Given the description of an element on the screen output the (x, y) to click on. 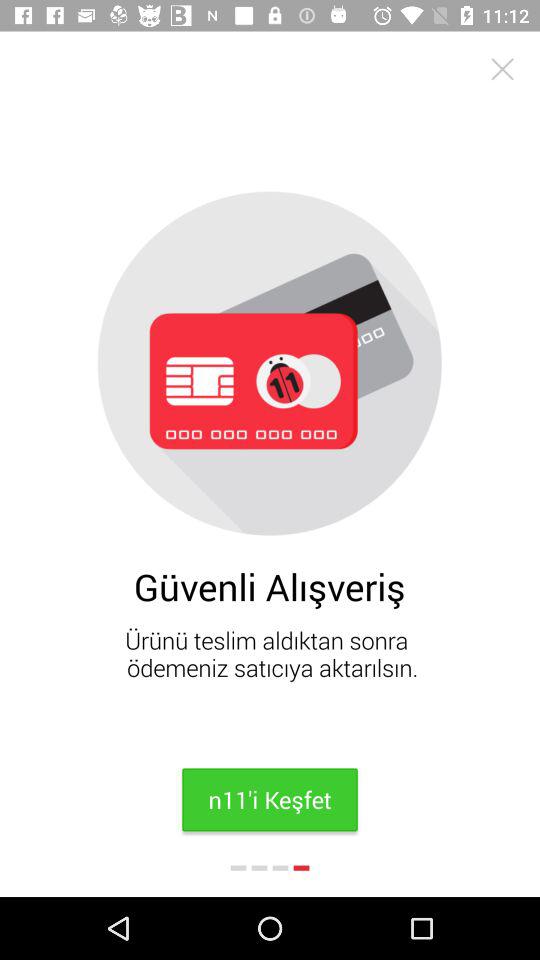
turn off the icon at the top right corner (502, 68)
